Given the description of an element on the screen output the (x, y) to click on. 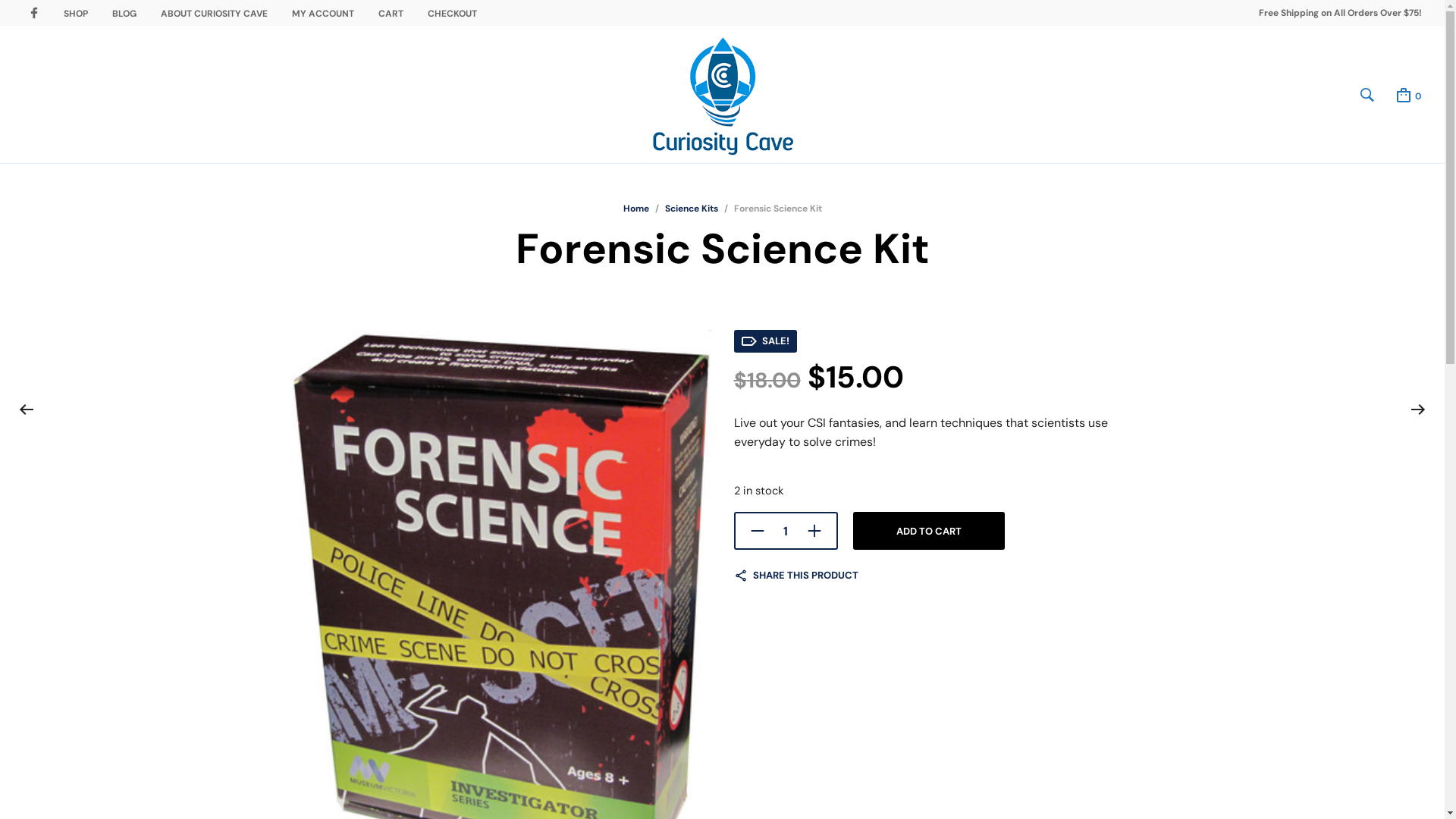
0 Element type: text (1407, 94)
BLOG Element type: text (124, 13)
ADD TO CART Element type: text (928, 530)
MY ACCOUNT Element type: text (322, 13)
Science Kits Element type: text (690, 208)
CHECKOUT Element type: text (451, 13)
Home Element type: text (636, 208)
ABOUT CURIOSITY CAVE Element type: text (214, 13)
Search Element type: text (985, 393)
SHOP Element type: text (75, 13)
SHARE THIS PRODUCT Element type: text (796, 575)
CART Element type: text (390, 13)
